Given the description of an element on the screen output the (x, y) to click on. 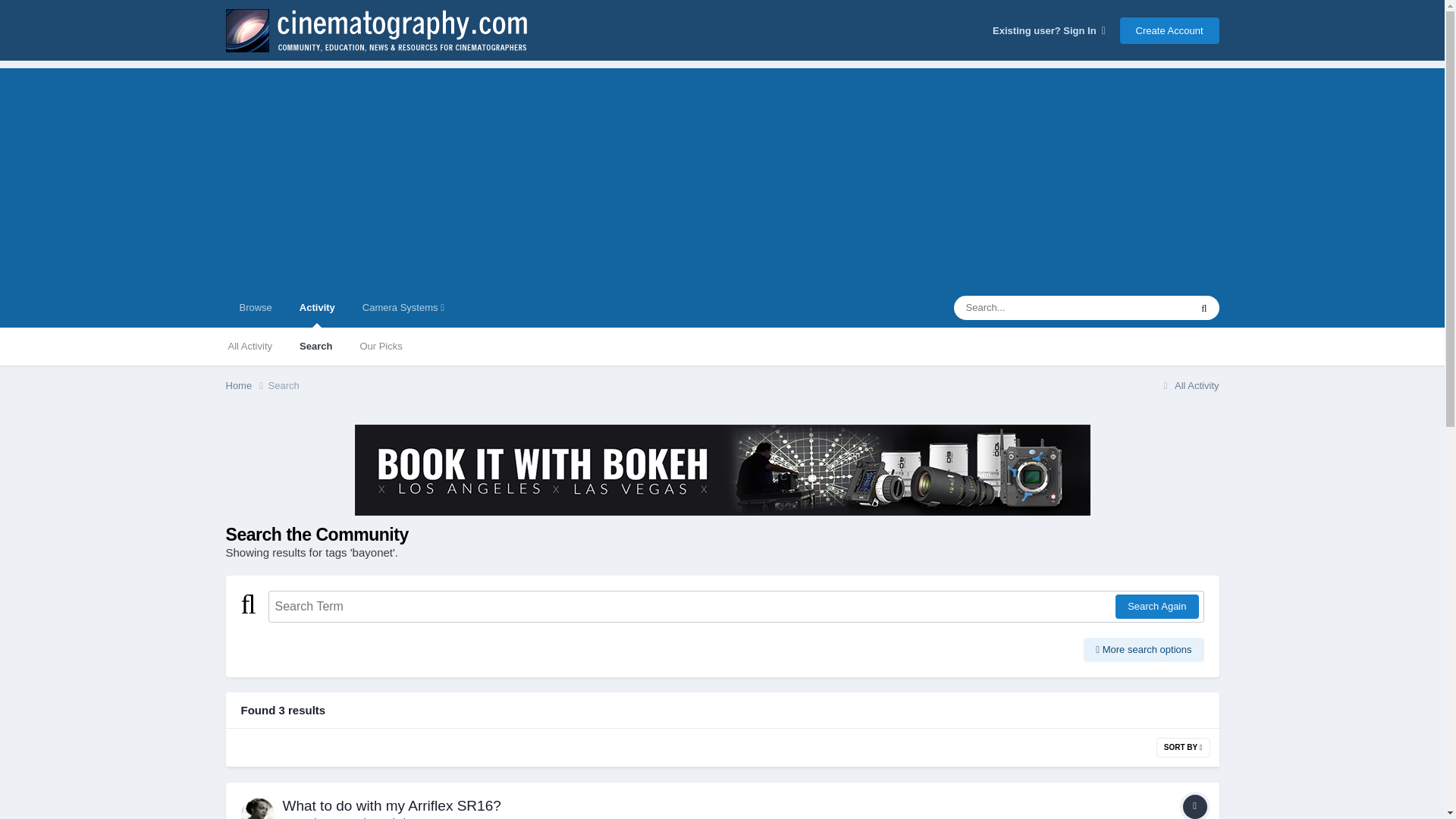
Go to T Sanders's profile (306, 817)
All Activity (249, 346)
Search (315, 346)
Camera Systems (403, 307)
Existing user? Sign In   (1048, 30)
Activity (317, 307)
Home (246, 385)
Browse (255, 307)
Go to T Sanders's profile (258, 808)
Topic (1194, 806)
Create Account (1169, 29)
Our Picks (380, 346)
